Given the description of an element on the screen output the (x, y) to click on. 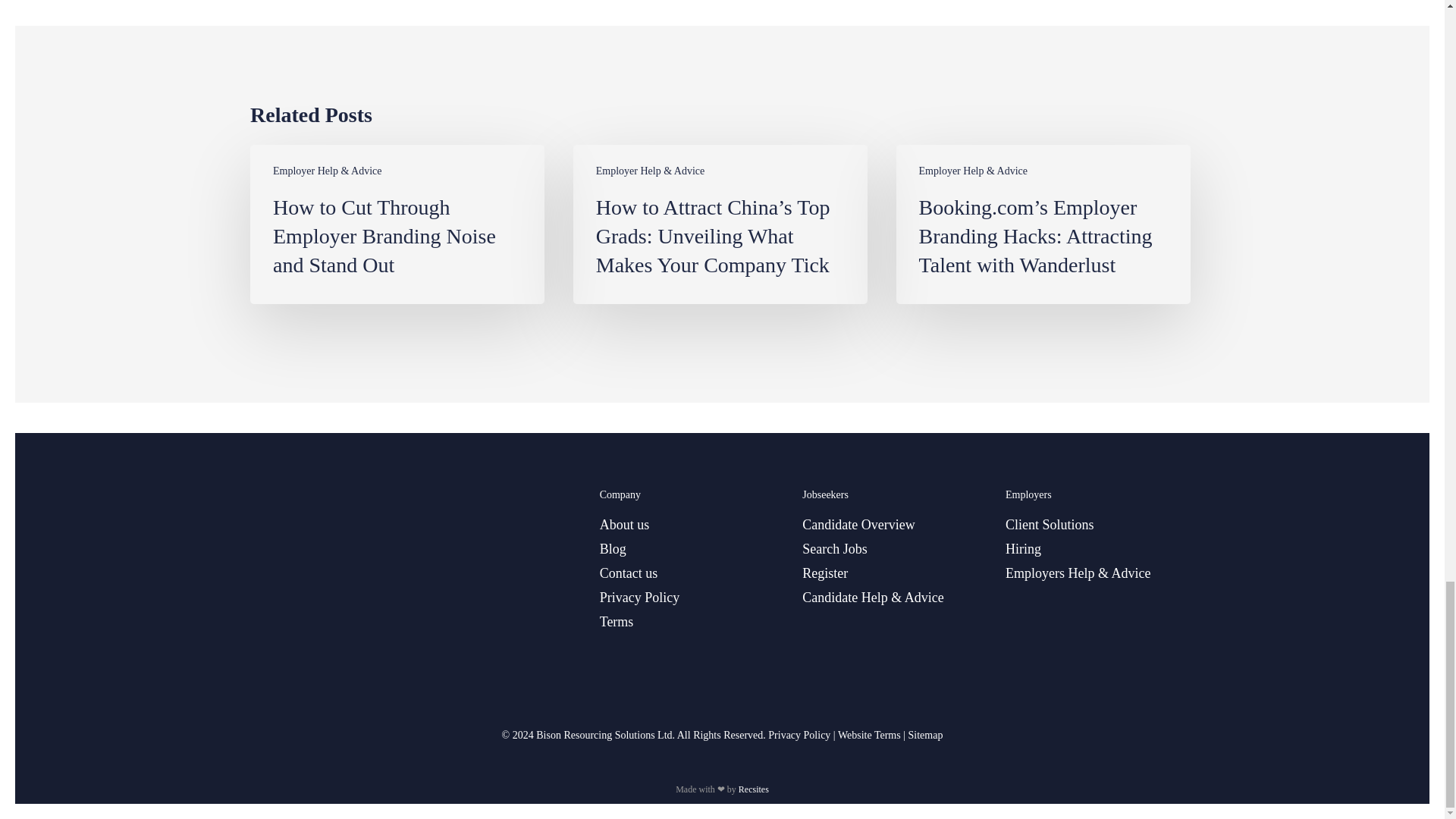
How to Cut Through Employer Branding Noise and Stand Out (397, 223)
